Given the description of an element on the screen output the (x, y) to click on. 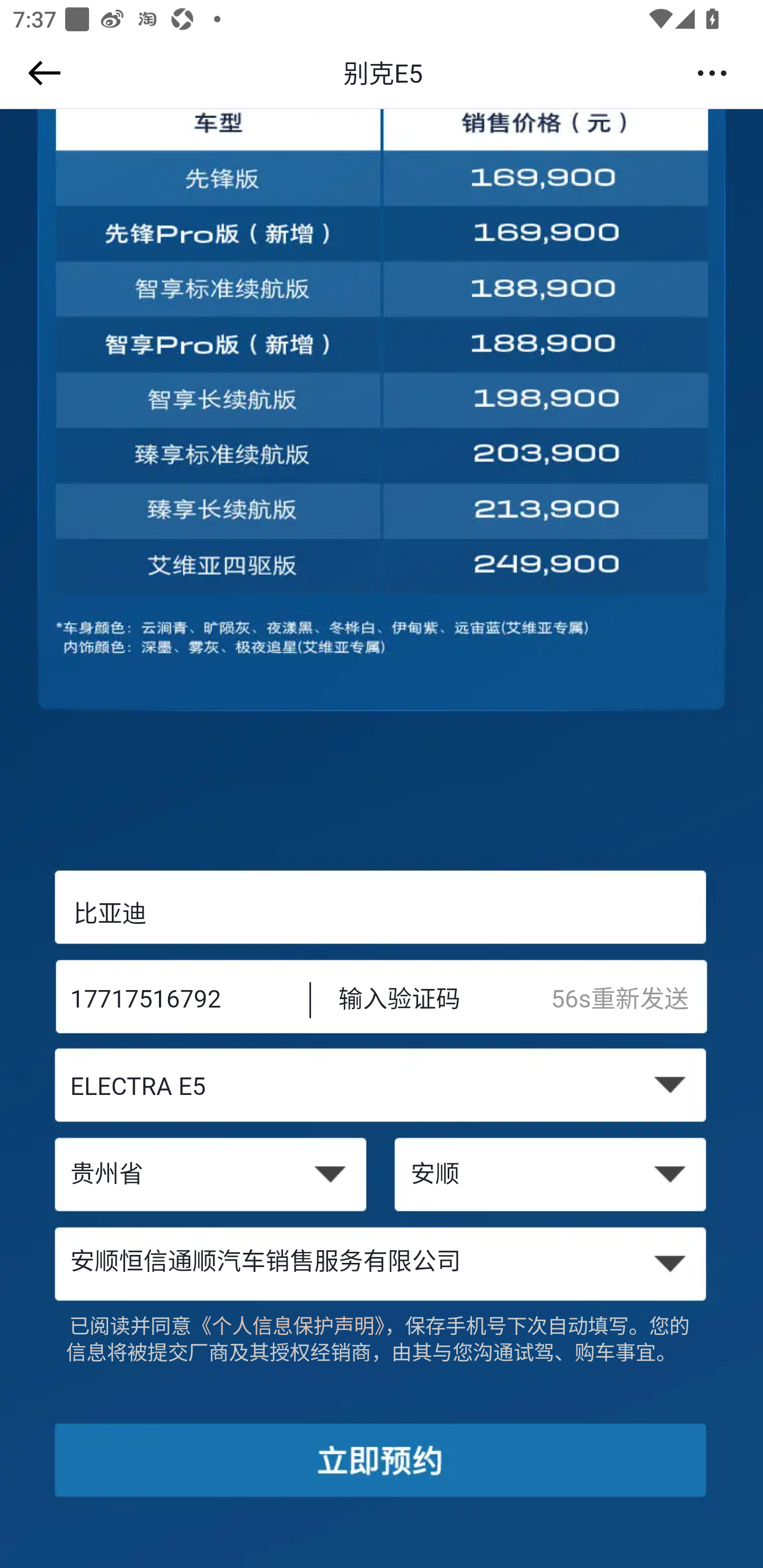
 (41, 72)
比亚迪 (381, 912)
17717516792 (176, 1001)
57s重新发送 (629, 1001)
ELECTRA E5 (381, 1088)
贵州省 (210, 1175)
安顺 (552, 1175)
安顺恒信通顺汽车销售服务有限公司 (381, 1262)
